Given the description of an element on the screen output the (x, y) to click on. 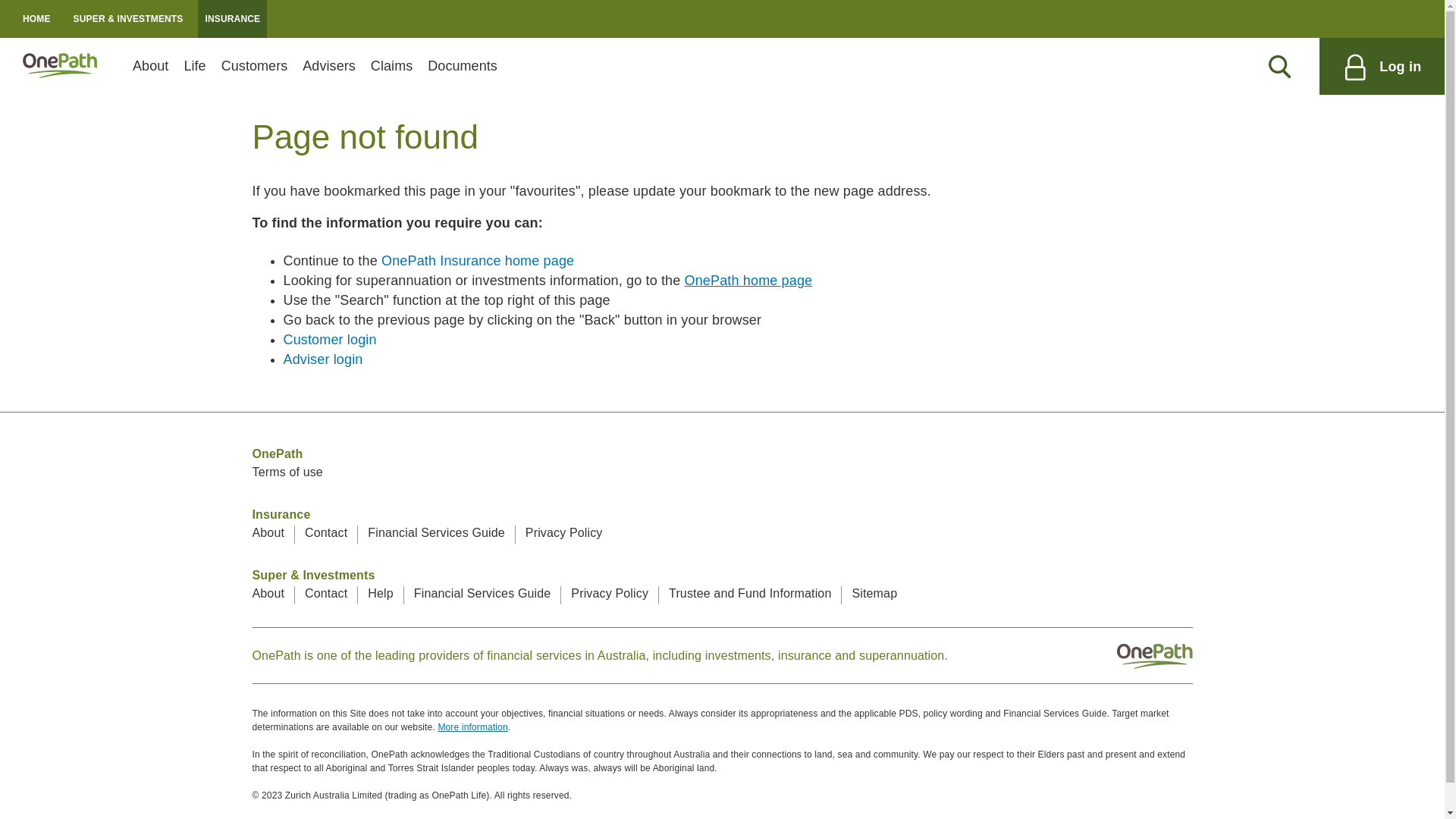
Help Element type: text (380, 592)
About Element type: text (267, 532)
Privacy Policy Element type: text (563, 532)
Contact Element type: text (325, 532)
HOME Element type: text (36, 18)
OnePath Insurance home page Element type: text (477, 260)
OnePath home page Element type: text (748, 280)
About Element type: text (267, 592)
More information Element type: text (472, 726)
Life Element type: text (194, 66)
SUPER & INVESTMENTS Element type: text (128, 18)
About Element type: text (150, 66)
Contact Element type: text (325, 592)
Terms of use Element type: text (286, 471)
Customer login Element type: text (329, 339)
Log in Element type: text (1381, 65)
Financial Services Guide Element type: text (482, 592)
Trustee and Fund Information Element type: text (749, 592)
INSURANCE Element type: text (232, 18)
Customers Element type: text (254, 66)
Adviser login Element type: text (323, 359)
Privacy Policy Element type: text (609, 592)
Claims Element type: text (391, 66)
Sitemap Element type: text (874, 592)
Advisers Element type: text (328, 66)
Financial Services Guide Element type: text (436, 532)
Documents Element type: text (462, 66)
